Given the description of an element on the screen output the (x, y) to click on. 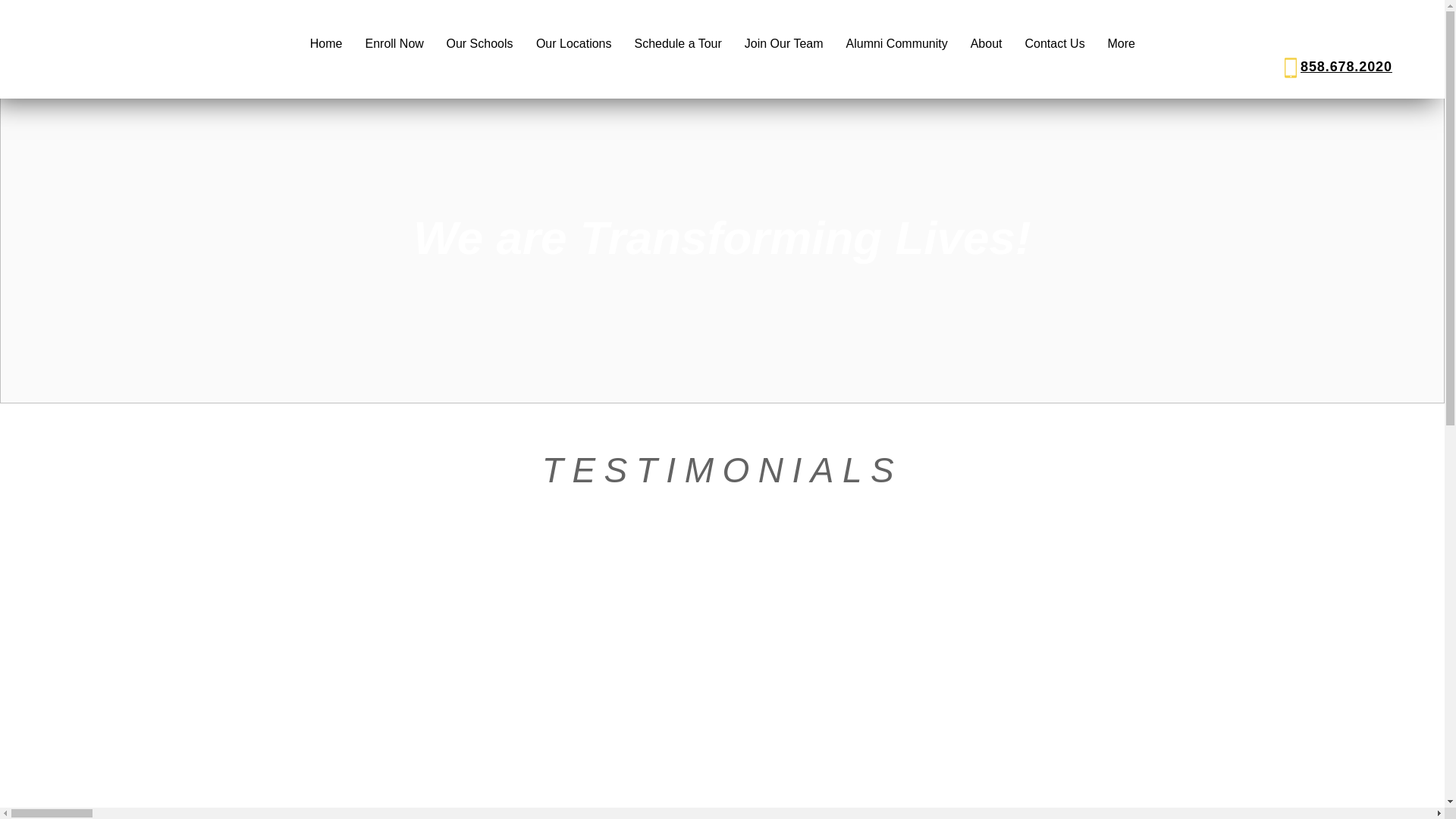
858.678.2020 (1345, 66)
Home (325, 43)
Our Locations (573, 43)
Schedule a Tour (678, 43)
Our Schools (479, 43)
Alumni Community (896, 43)
Join Our Team (783, 43)
Enroll Now (393, 43)
About (985, 43)
Contact Us (1054, 43)
